Given the description of an element on the screen output the (x, y) to click on. 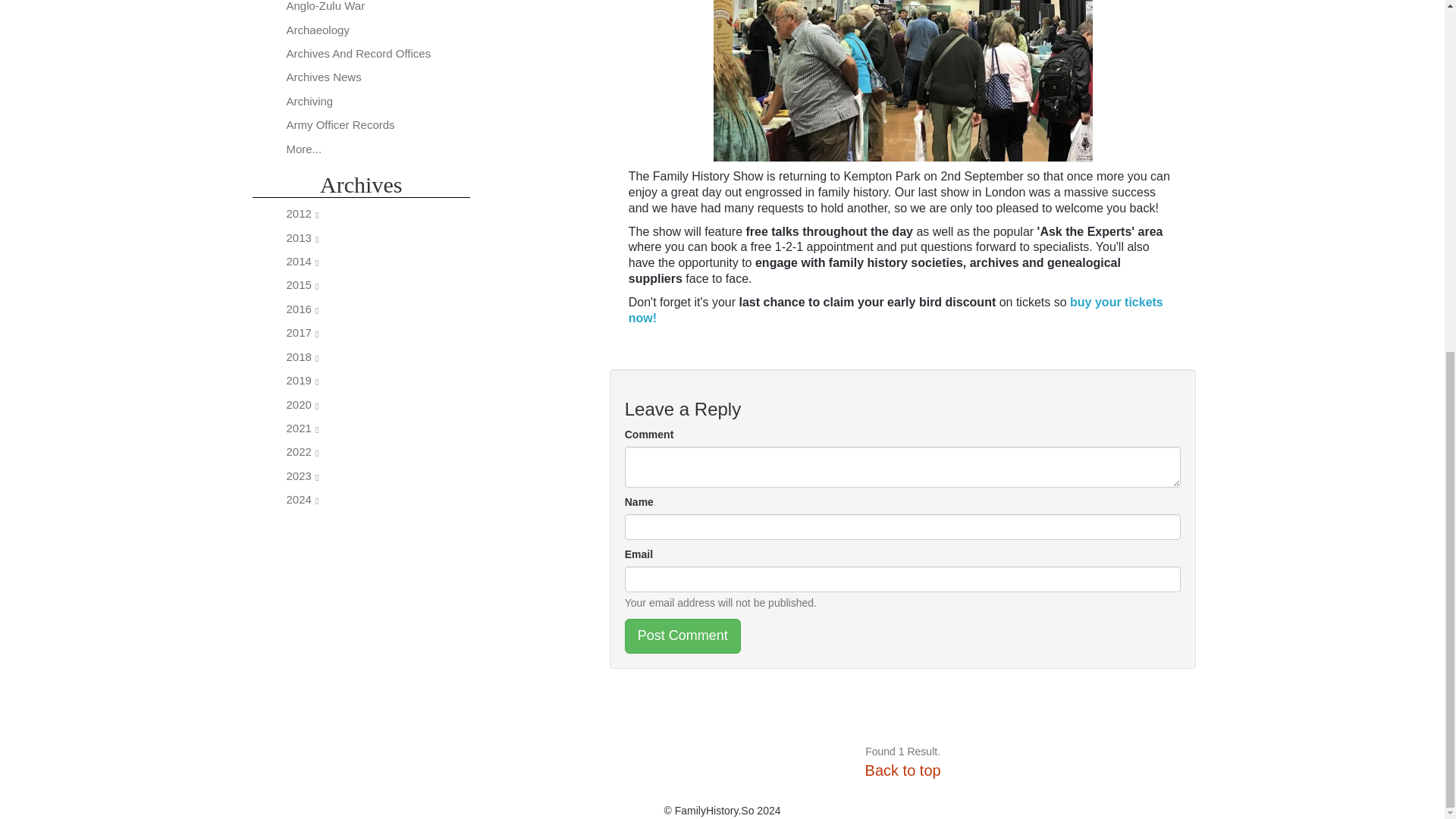
Army Officer Records (340, 124)
Anglo-Zulu War (325, 6)
Archives And Record Offices (358, 52)
Archiving (309, 101)
Archives News (323, 76)
Archaeology (317, 29)
